Given the description of an element on the screen output the (x, y) to click on. 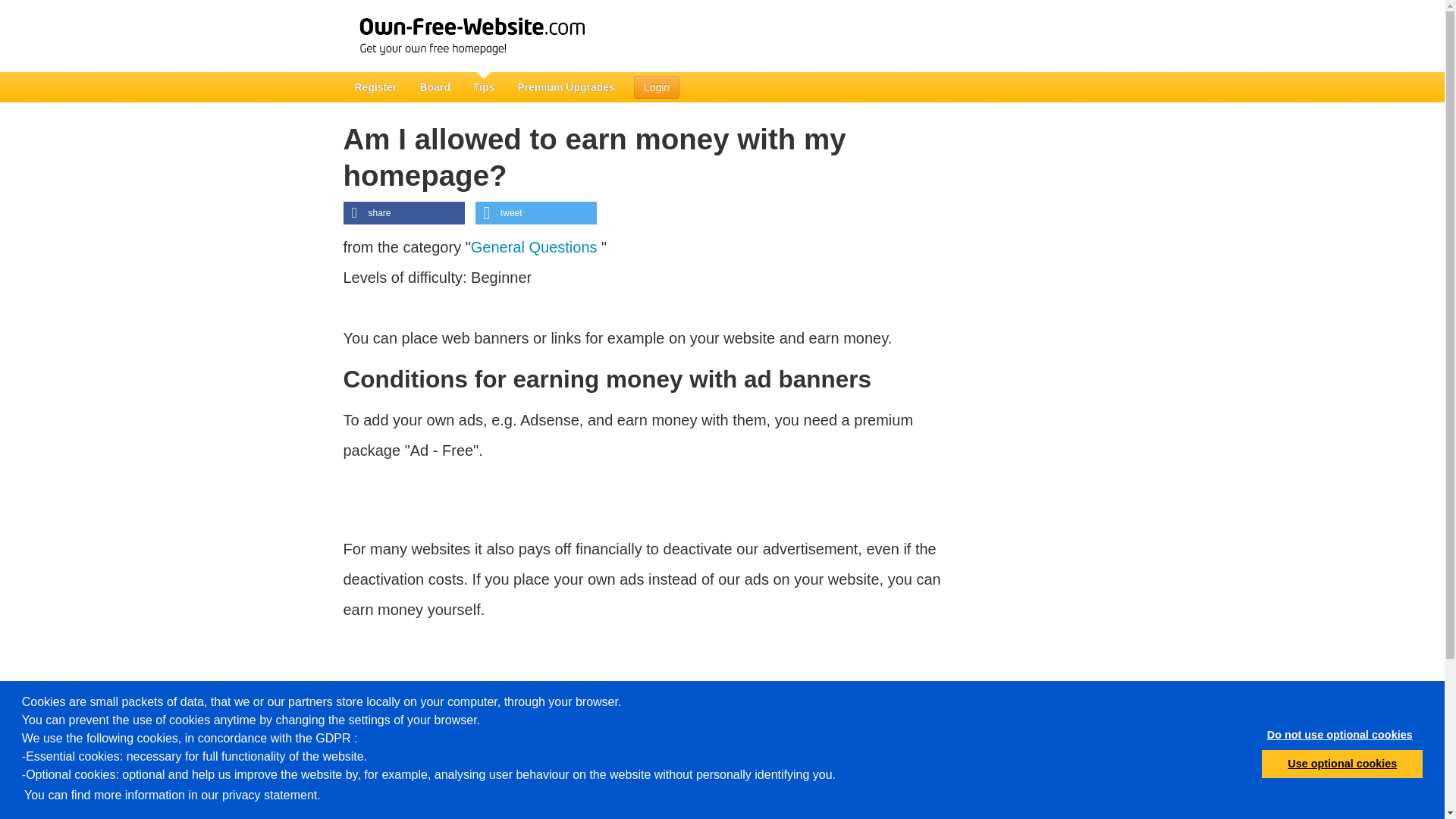
You can find more information in our privacy statement. (172, 794)
Register (374, 87)
Premium Upgrades - own-free-website.com (566, 87)
Do not use optional cookies (1339, 735)
Register - Webme.com (374, 87)
Board - own-free-website.com (435, 87)
Share on Facebook (403, 212)
Back to the overview (401, 739)
Own-Free-Website.com - Create your own free Website! (496, 36)
Back to the overview (401, 739)
tweet (536, 212)
Share on Twitter (536, 212)
share (403, 212)
Premium Upgrades (566, 87)
Tips - own-free-website.com (483, 87)
